Given the description of an element on the screen output the (x, y) to click on. 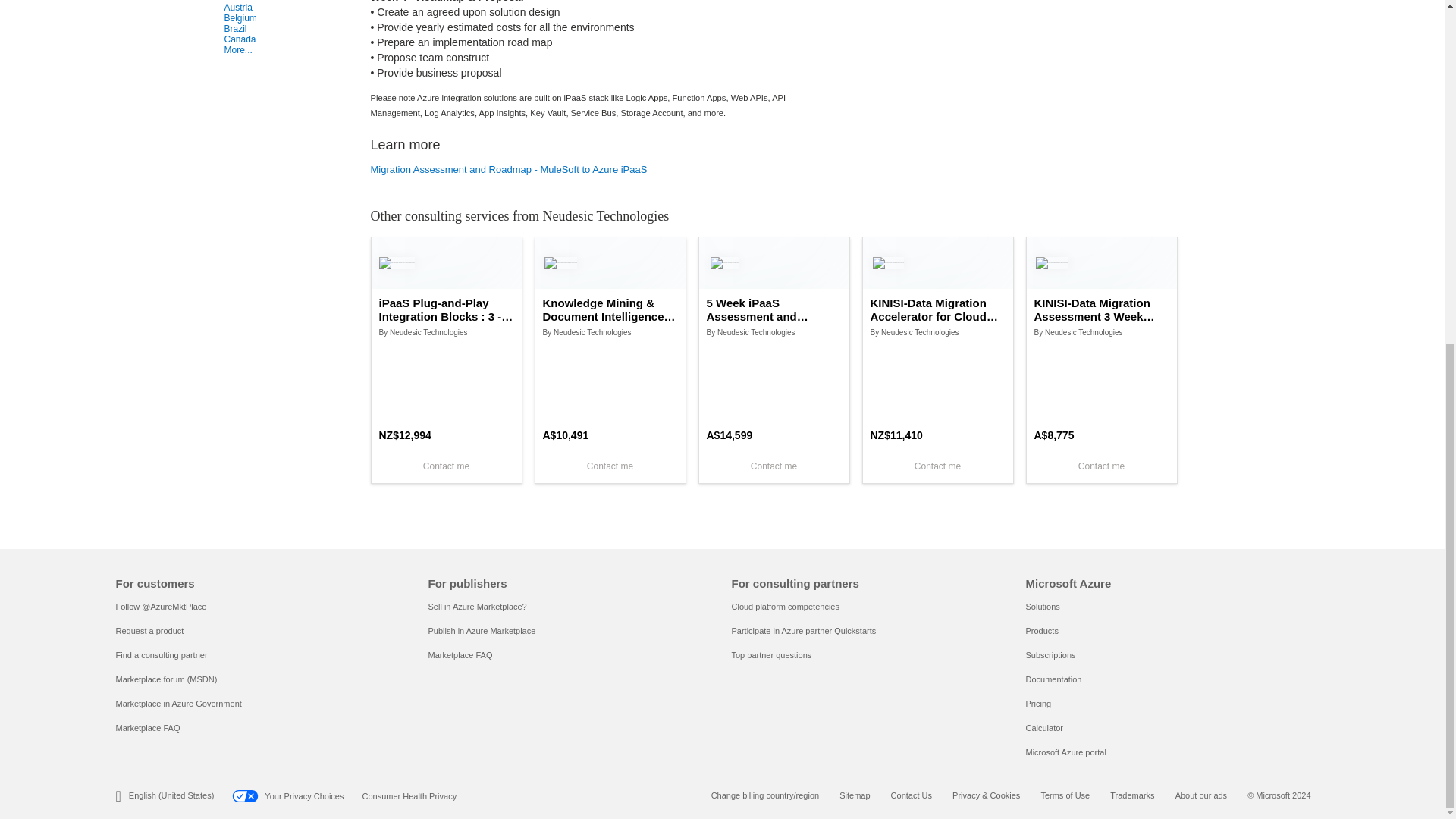
KINISI-Data Migration Accelerator for Cloud 4W-POC (938, 309)
KINISI-Data Migration Assessment 3 Week Consulting (1101, 309)
5 Week iPaaS Assessment and Roadmap (773, 309)
